Given the description of an element on the screen output the (x, y) to click on. 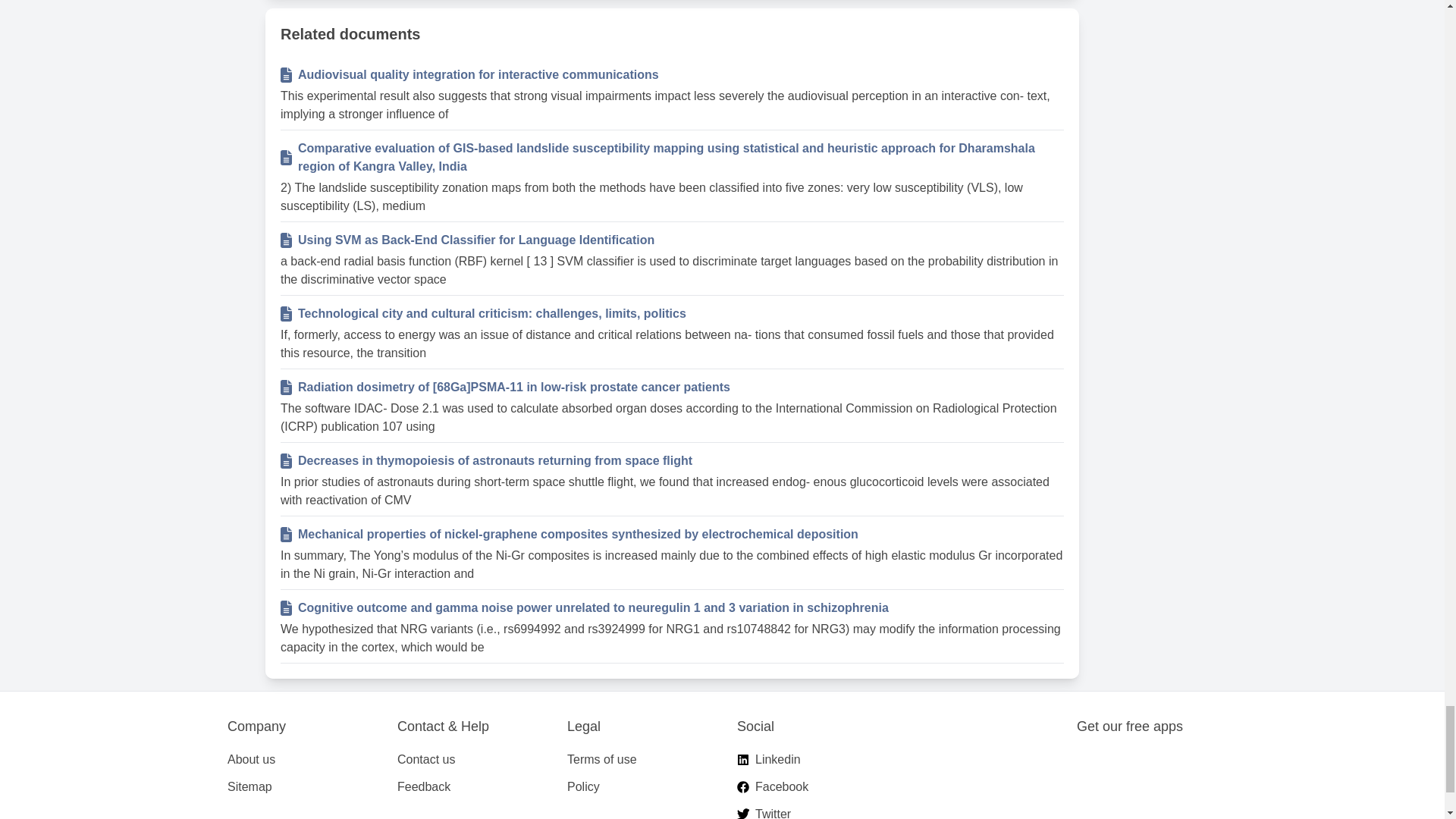
Using SVM as Back-End Classifier for Language Identification (681, 239)
